Given the description of an element on the screen output the (x, y) to click on. 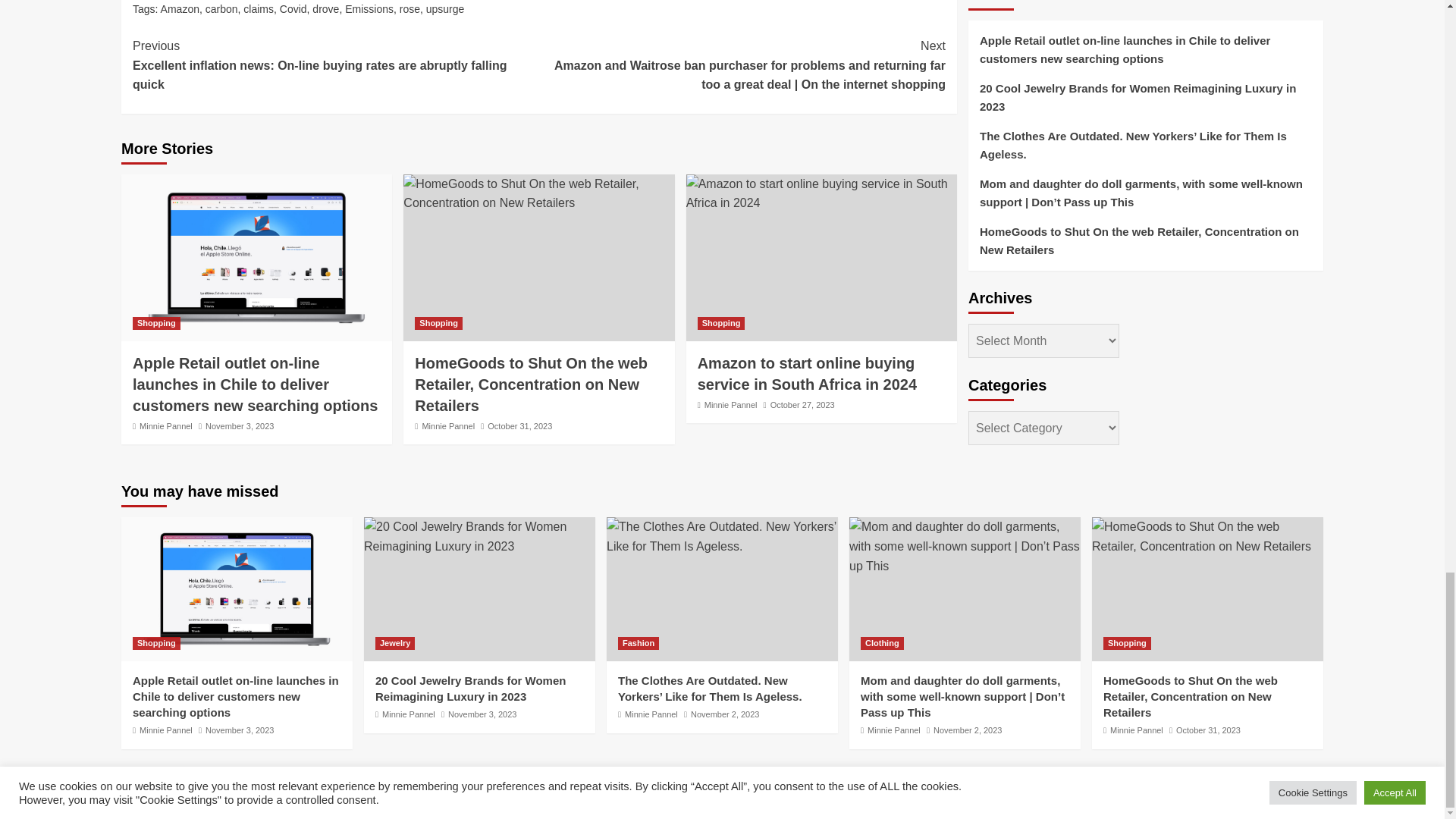
Covid (293, 9)
upsurge (445, 9)
November 3, 2023 (240, 425)
20 Cool Jewelry Brands for Women Reimagining Luxury in 2023 (479, 536)
rose (409, 9)
